Given the description of an element on the screen output the (x, y) to click on. 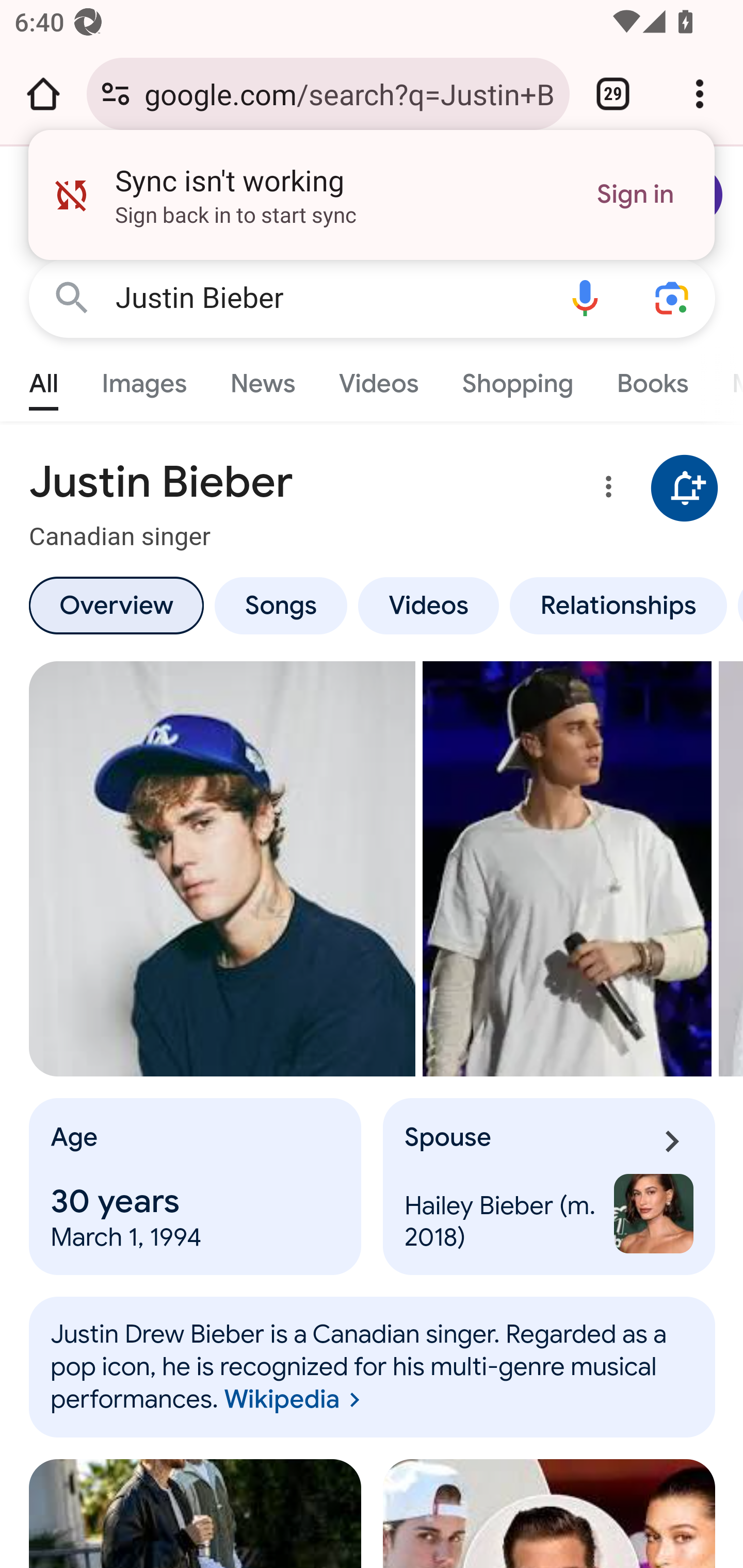
Open the home page (43, 93)
Connection is secure (115, 93)
Switch or close tabs (612, 93)
Customize and control Google Chrome (699, 93)
Google Search (71, 296)
Search using your camera or photos (672, 296)
Justin Bieber (328, 297)
Images (144, 378)
News (262, 378)
Videos (378, 378)
Shopping (516, 378)
Books (652, 378)
Get notifications about Justin Bieber (684, 489)
More options (605, 489)
Overview (116, 605)
Songs (280, 605)
Videos (428, 605)
Relationships (618, 605)
Justin Bieber - Wikipedia (567, 868)
Justin_Bieber (372, 1367)
